Given the description of an element on the screen output the (x, y) to click on. 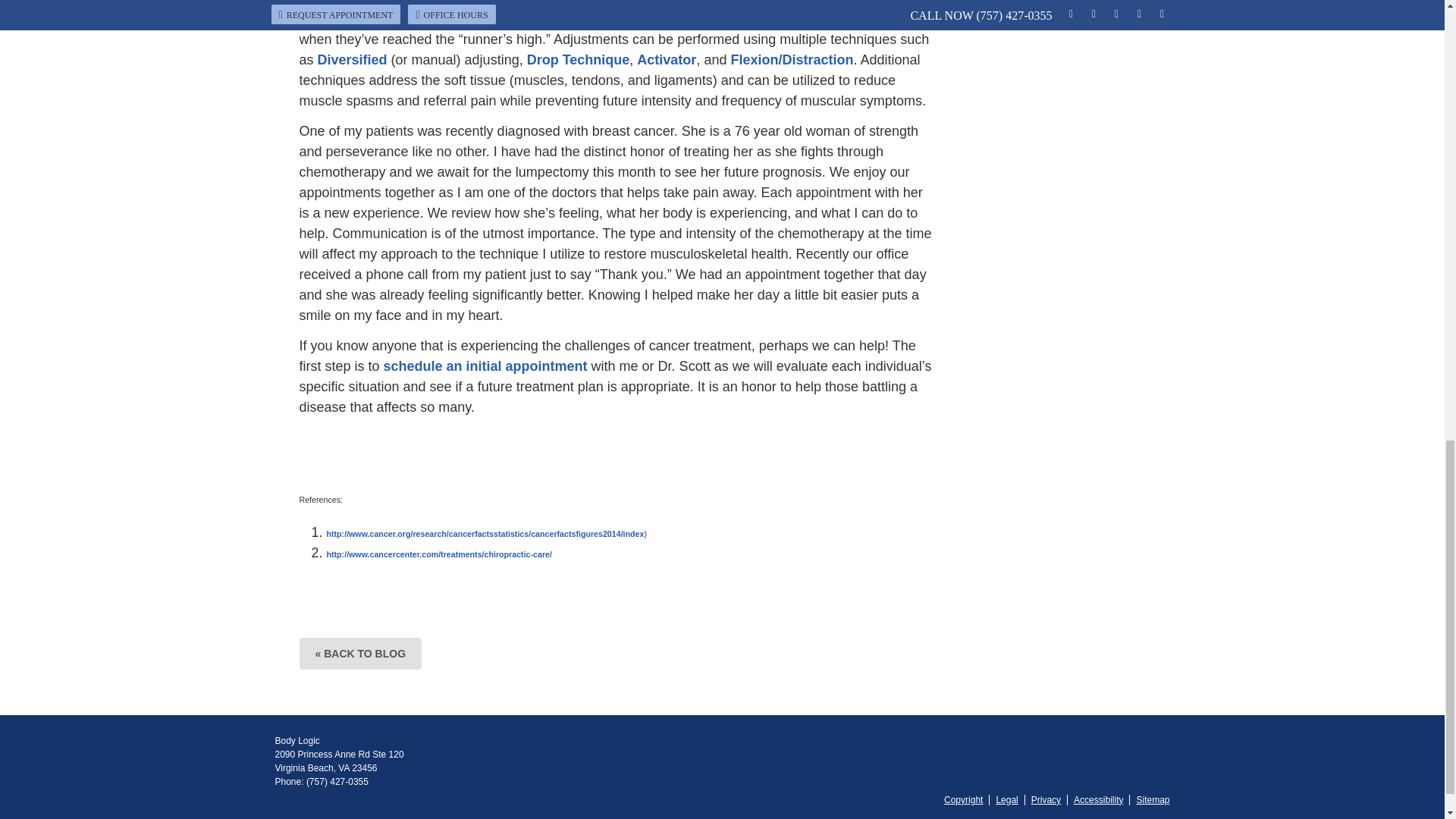
Footer Links (1053, 799)
